Given the description of an element on the screen output the (x, y) to click on. 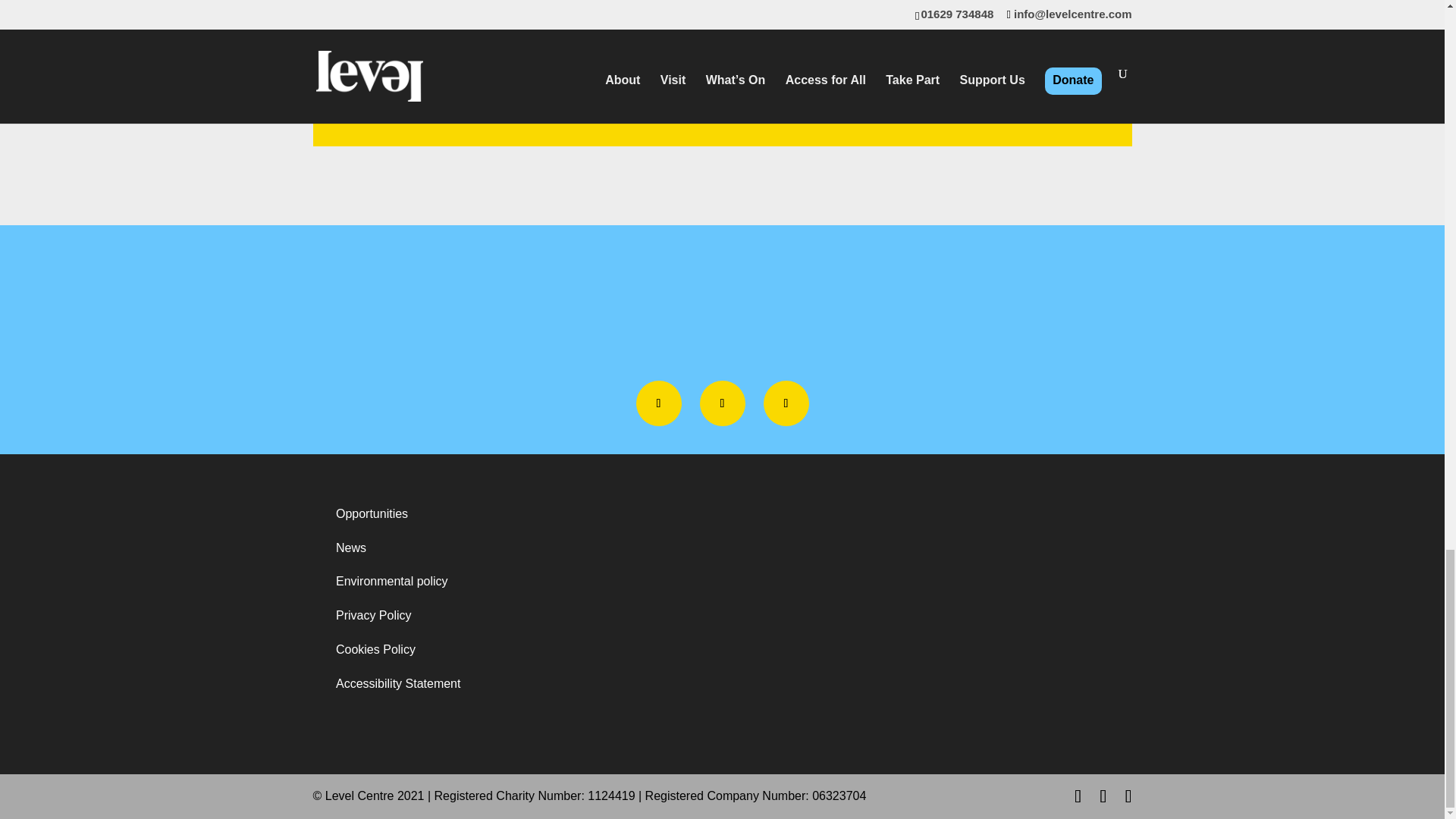
Opportunities (371, 513)
Environmental policy (392, 581)
Privacy Policy (374, 615)
Join our mailing list (721, 102)
Cookies Policy (375, 649)
Accessibility Statement (398, 683)
Click to find out what's on (1009, 4)
Read more about our access (721, 4)
Find out how you can support Level (433, 4)
News (351, 547)
